Given the description of an element on the screen output the (x, y) to click on. 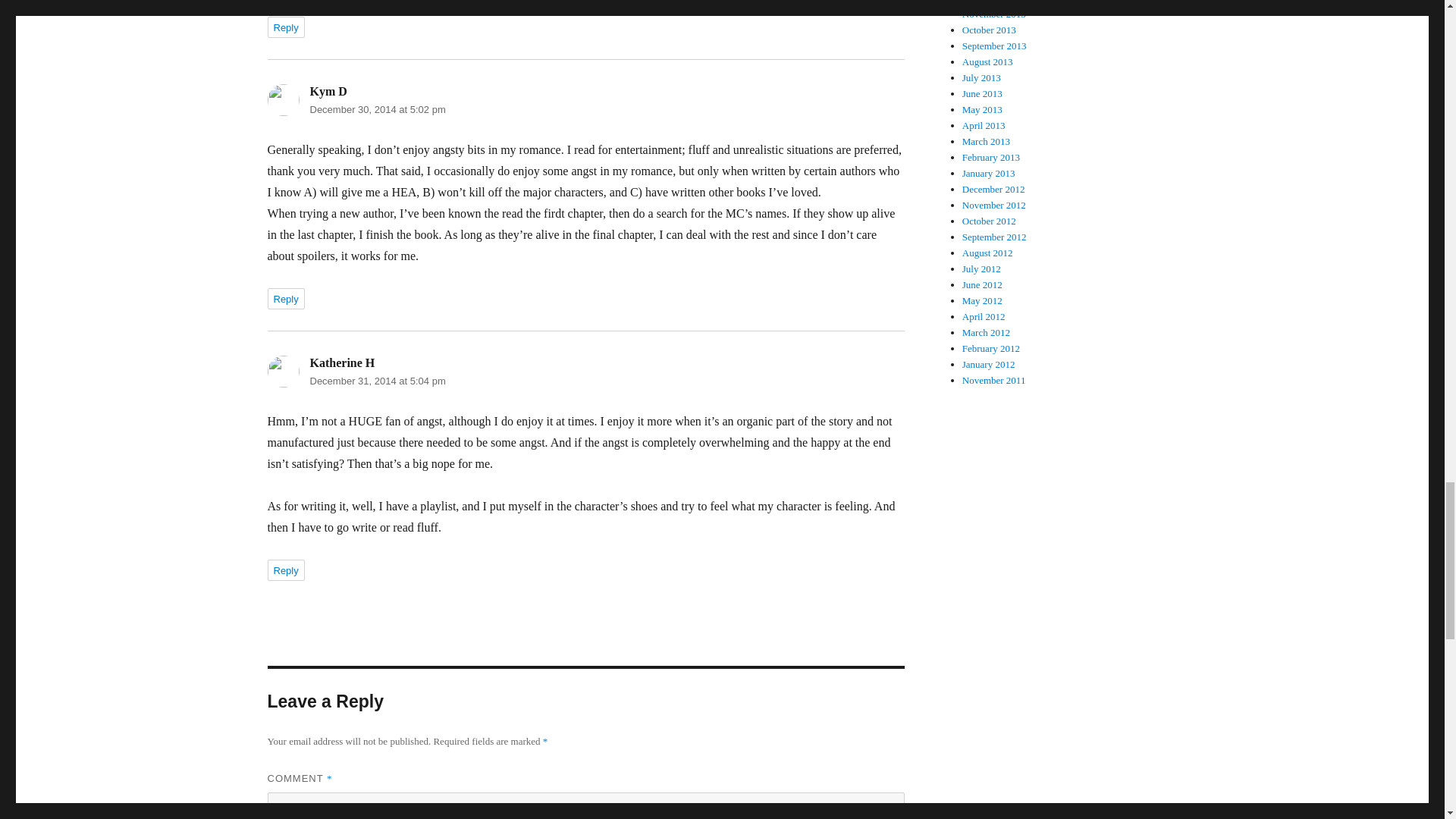
Reply (285, 26)
December 30, 2014 at 5:02 pm (376, 109)
